Given the description of an element on the screen output the (x, y) to click on. 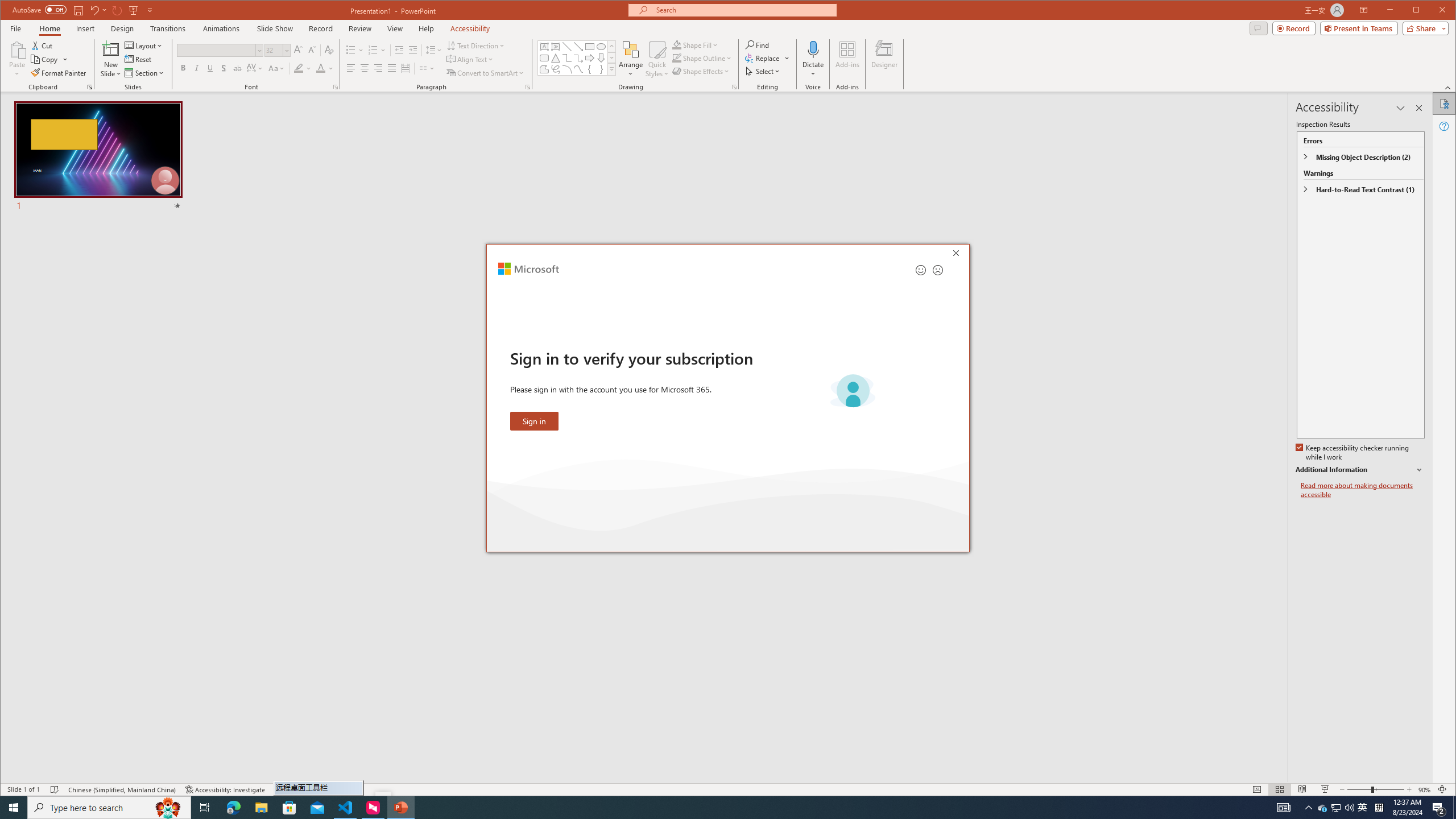
Keep accessibility checker running while I work (1352, 452)
